Given the description of an element on the screen output the (x, y) to click on. 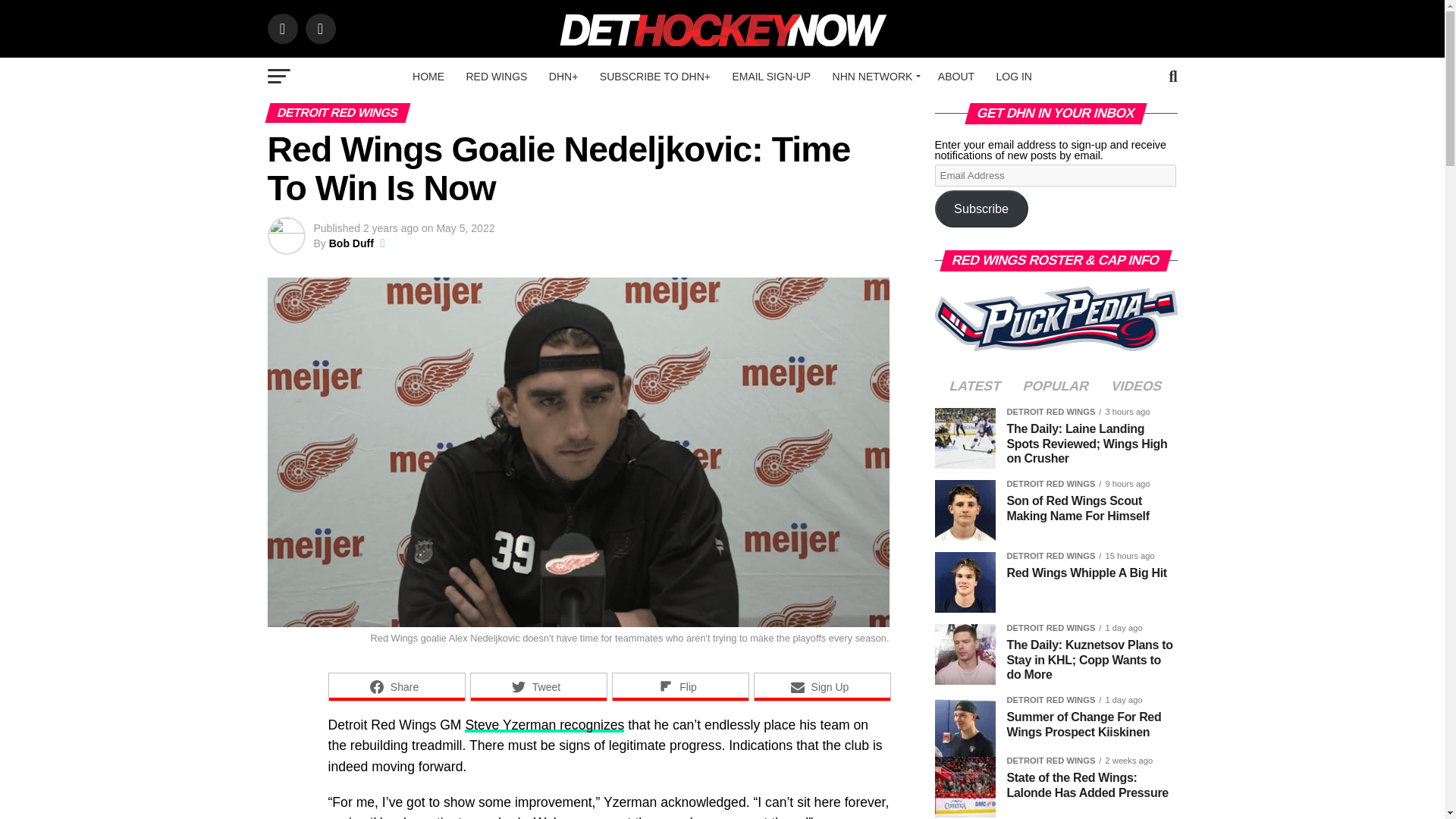
Share on Tweet (538, 686)
RED WINGS (496, 76)
Share on Flip (679, 686)
Share on Sign Up (822, 686)
Posts by Bob Duff (351, 243)
HOME (427, 76)
Share on Share (395, 686)
